Given the description of an element on the screen output the (x, y) to click on. 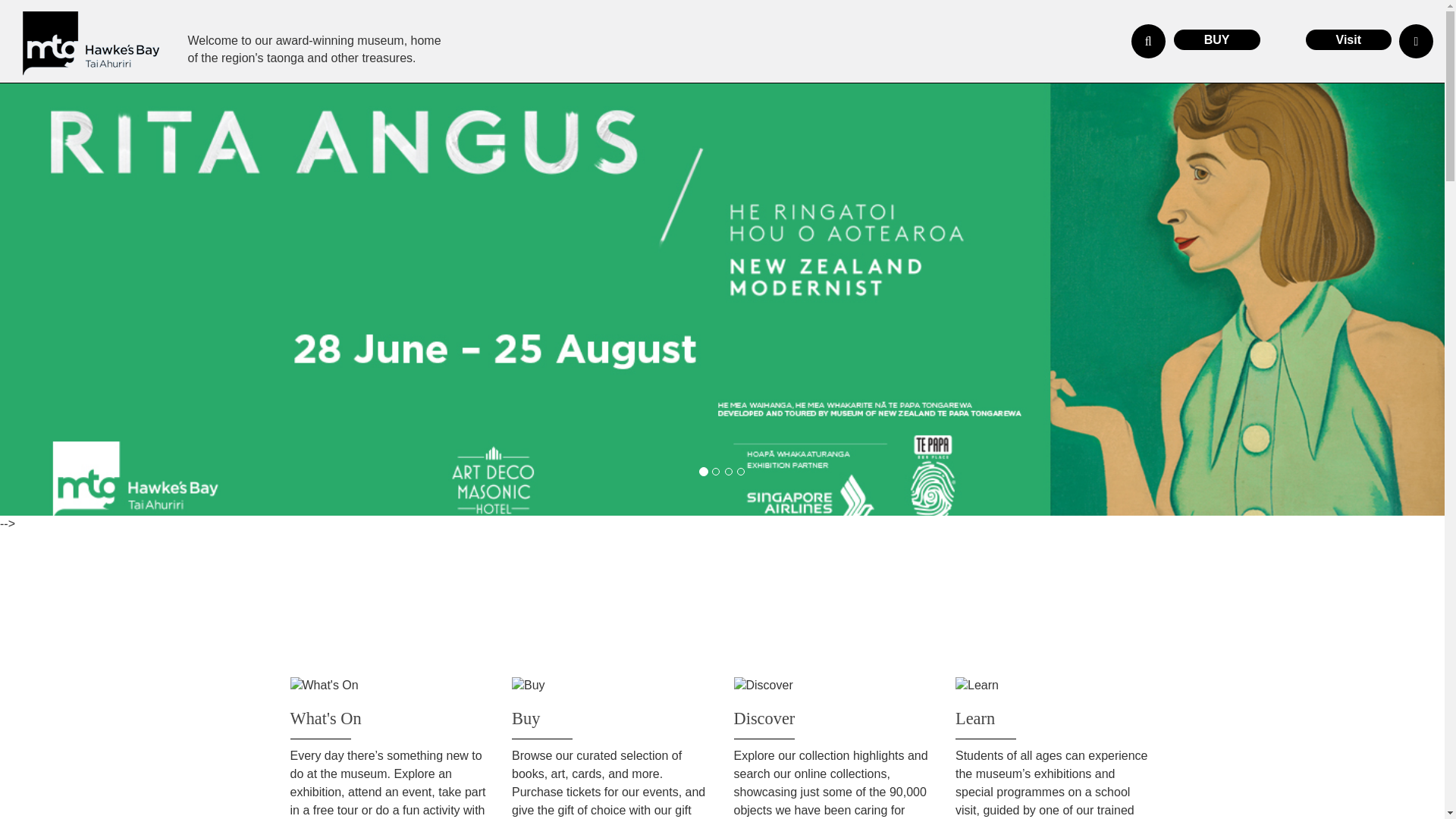
I'm looking for (1148, 41)
Open the menu (1415, 41)
MTG Hawke's Bay homepage.  (90, 43)
BUY (1216, 39)
Open menu.  (1415, 41)
Visit (1348, 39)
Search the website.  (1148, 41)
